Given the description of an element on the screen output the (x, y) to click on. 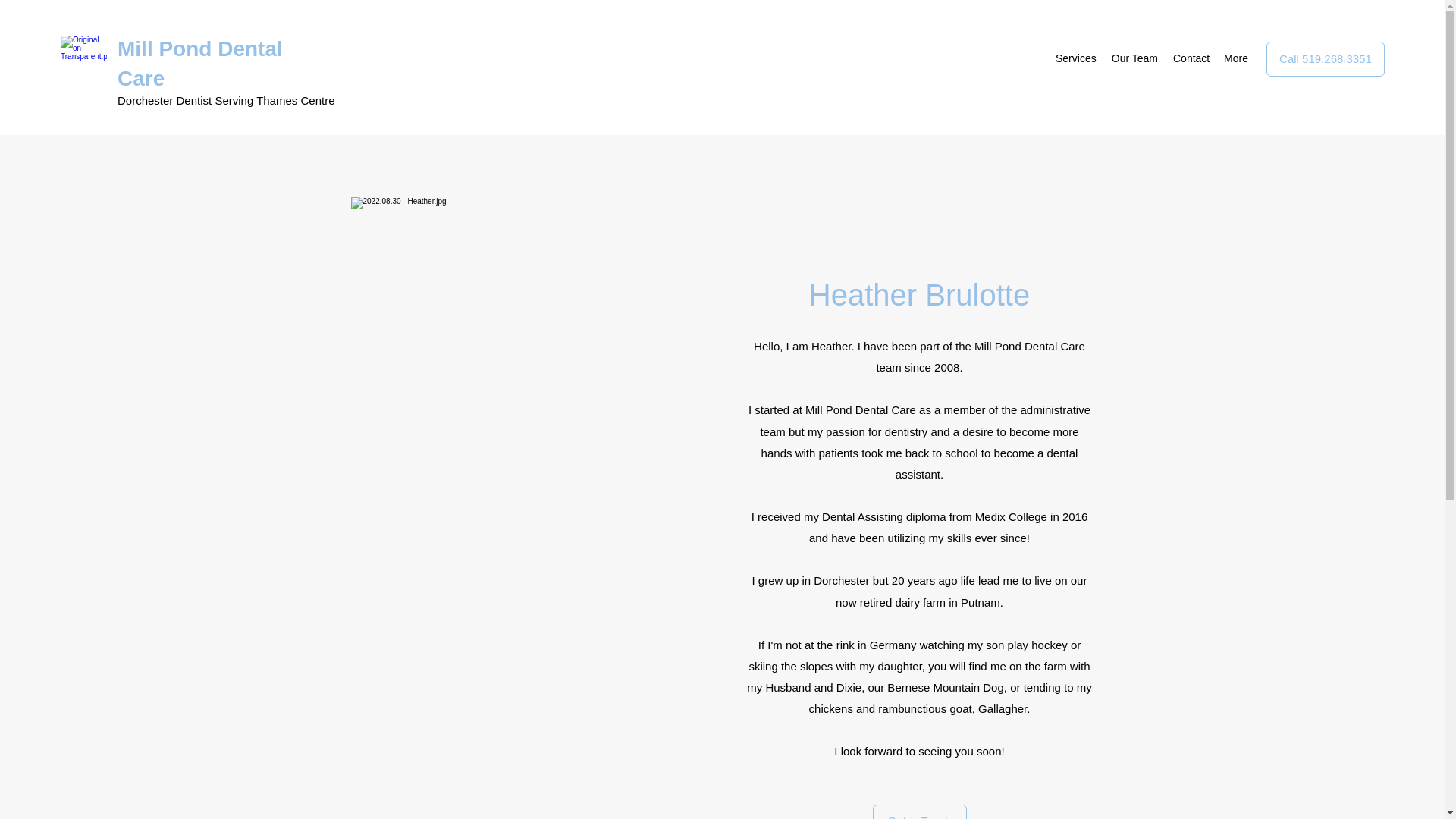
Our Team (1134, 58)
Services (1075, 58)
Mill Pond Dental Care (199, 63)
Get in Touch (919, 811)
Call 519.268.3351 (1325, 58)
Contact (1190, 58)
